Given the description of an element on the screen output the (x, y) to click on. 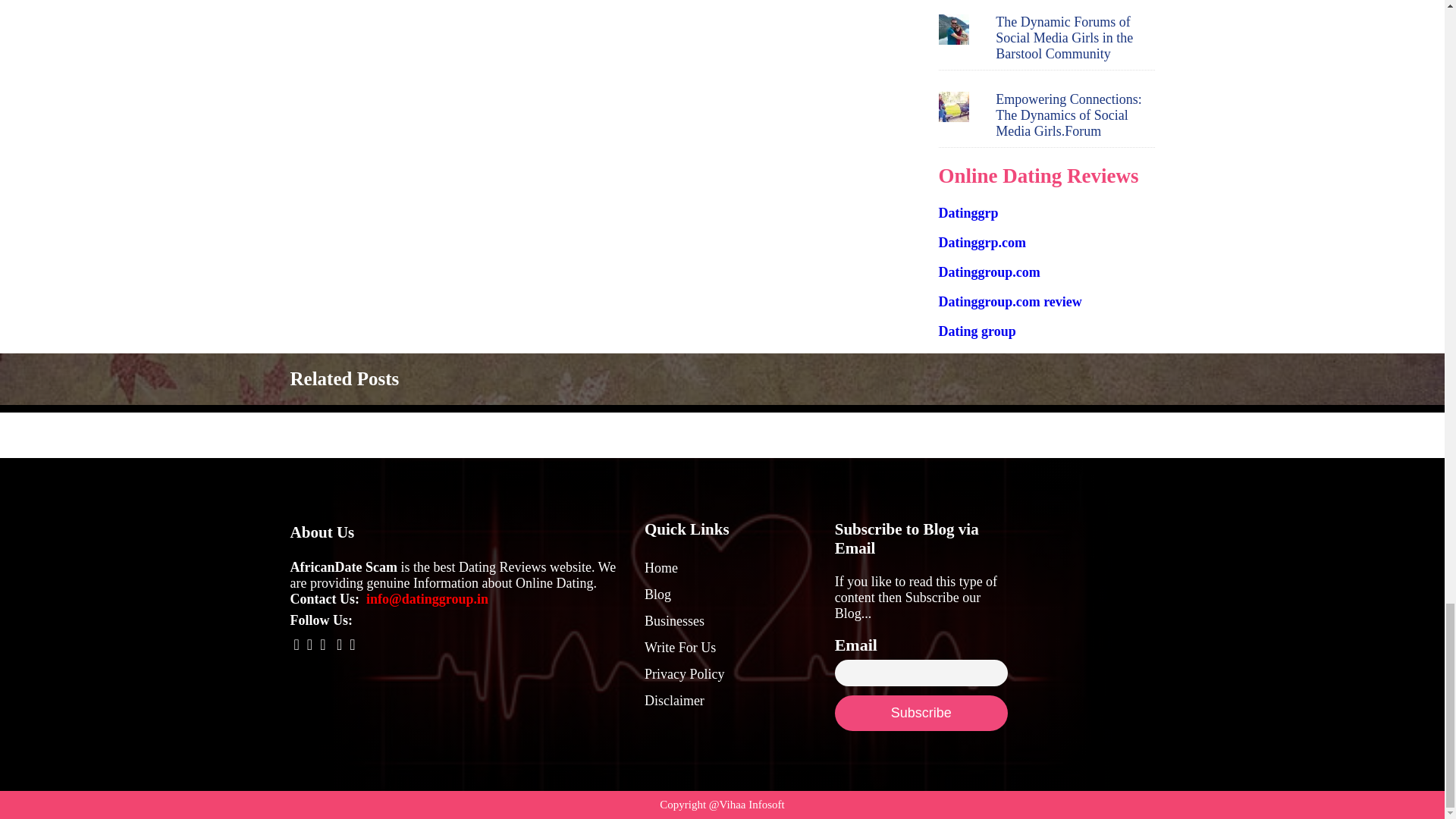
Subscribe (920, 712)
